Given the description of an element on the screen output the (x, y) to click on. 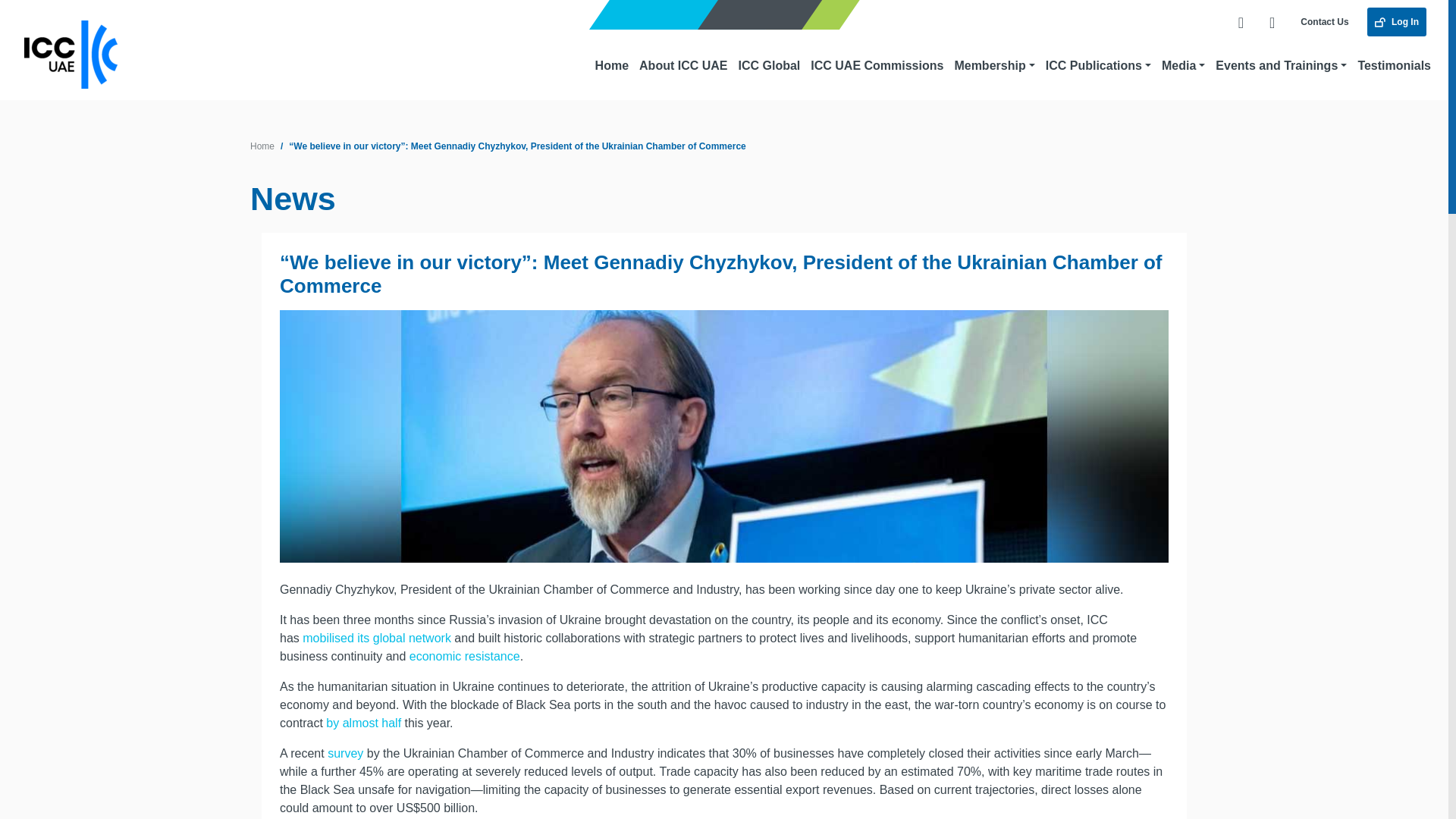
economic resistance (464, 656)
Events and Trainings (1280, 65)
Home (262, 145)
ICC UAE Commissions (877, 65)
Testimonials (1393, 65)
Log In (1396, 21)
Membership (994, 65)
Media (1182, 65)
ICC Global (768, 65)
by almost half (363, 722)
Contact Us (1323, 21)
mobilised its global network (376, 637)
ICC Publications (1098, 65)
Home (611, 65)
survey (344, 753)
